Given the description of an element on the screen output the (x, y) to click on. 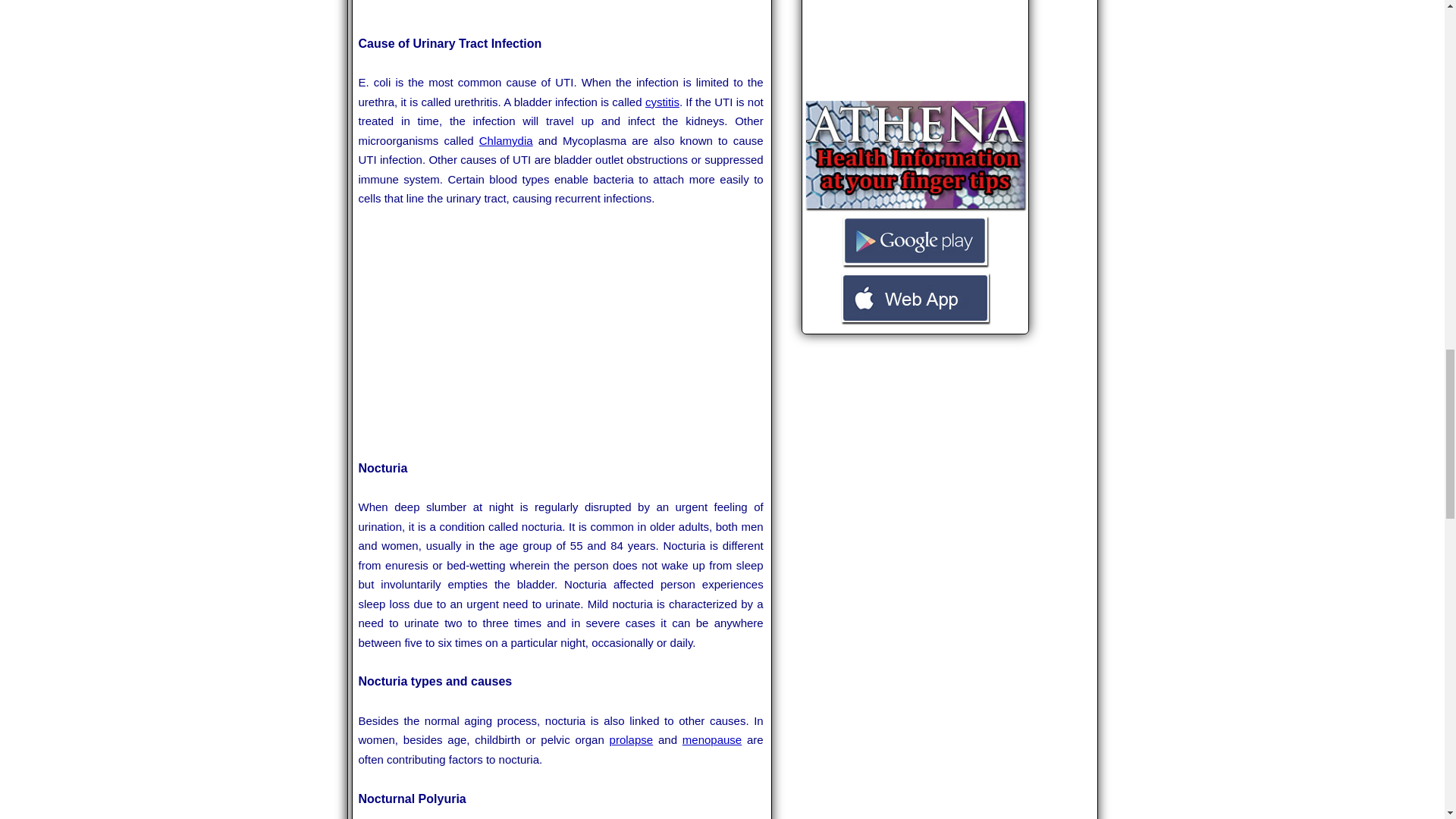
Free WebApp for Apple iPhones (914, 319)
Free Android Health App (915, 263)
Advertisement (561, 333)
Check all your health queries right from your mobile (915, 205)
cystitis (662, 101)
Advertisement (919, 47)
prolapse (631, 739)
Chlamydia (505, 140)
menopause (711, 739)
